Given the description of an element on the screen output the (x, y) to click on. 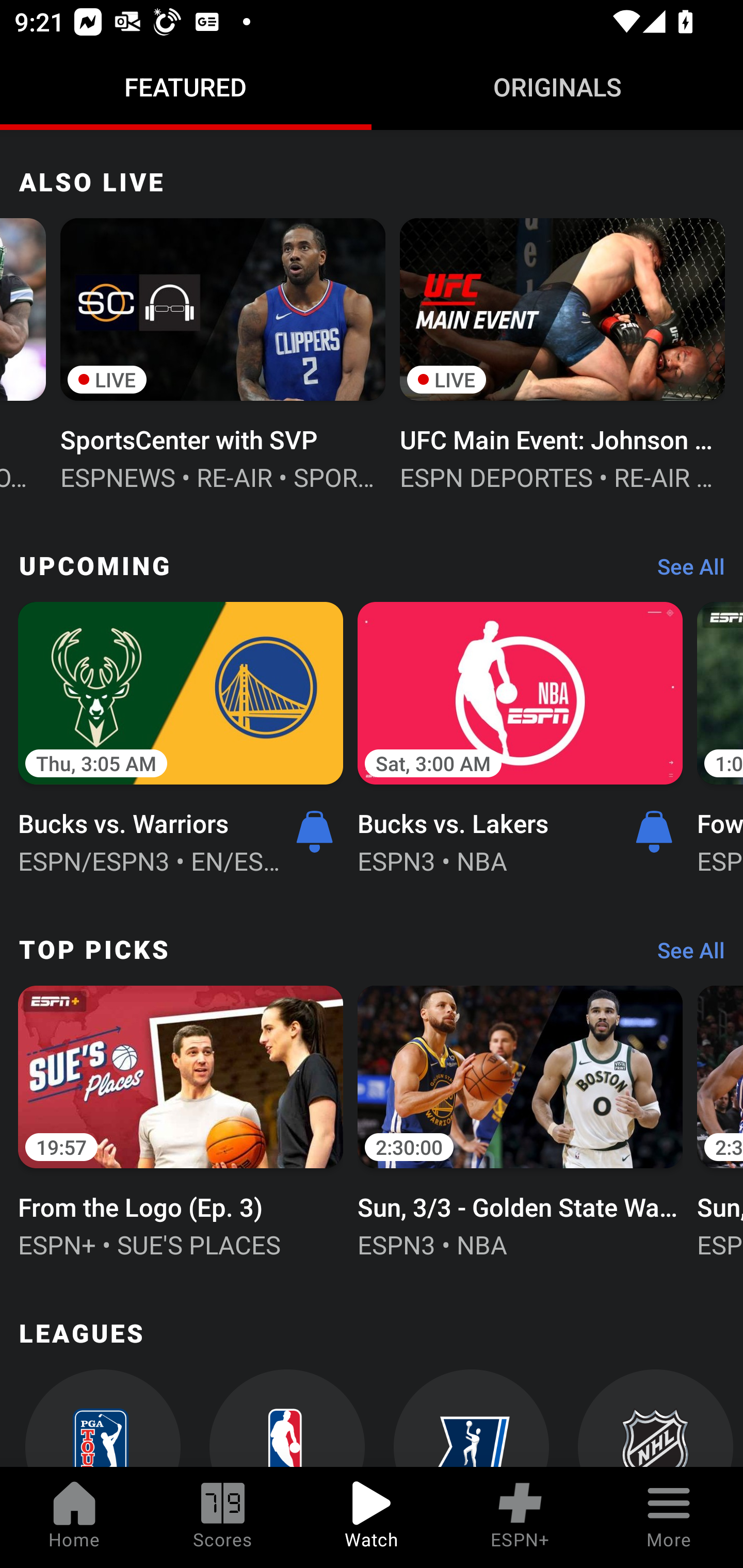
Originals ORIGINALS (557, 86)
See All (683, 571)
See All (683, 954)
19:57 From the Logo (Ep. 3) ESPN+ • SUE'S PLACES (180, 1120)
Home (74, 1517)
Scores (222, 1517)
ESPN+ (519, 1517)
More (668, 1517)
